Given the description of an element on the screen output the (x, y) to click on. 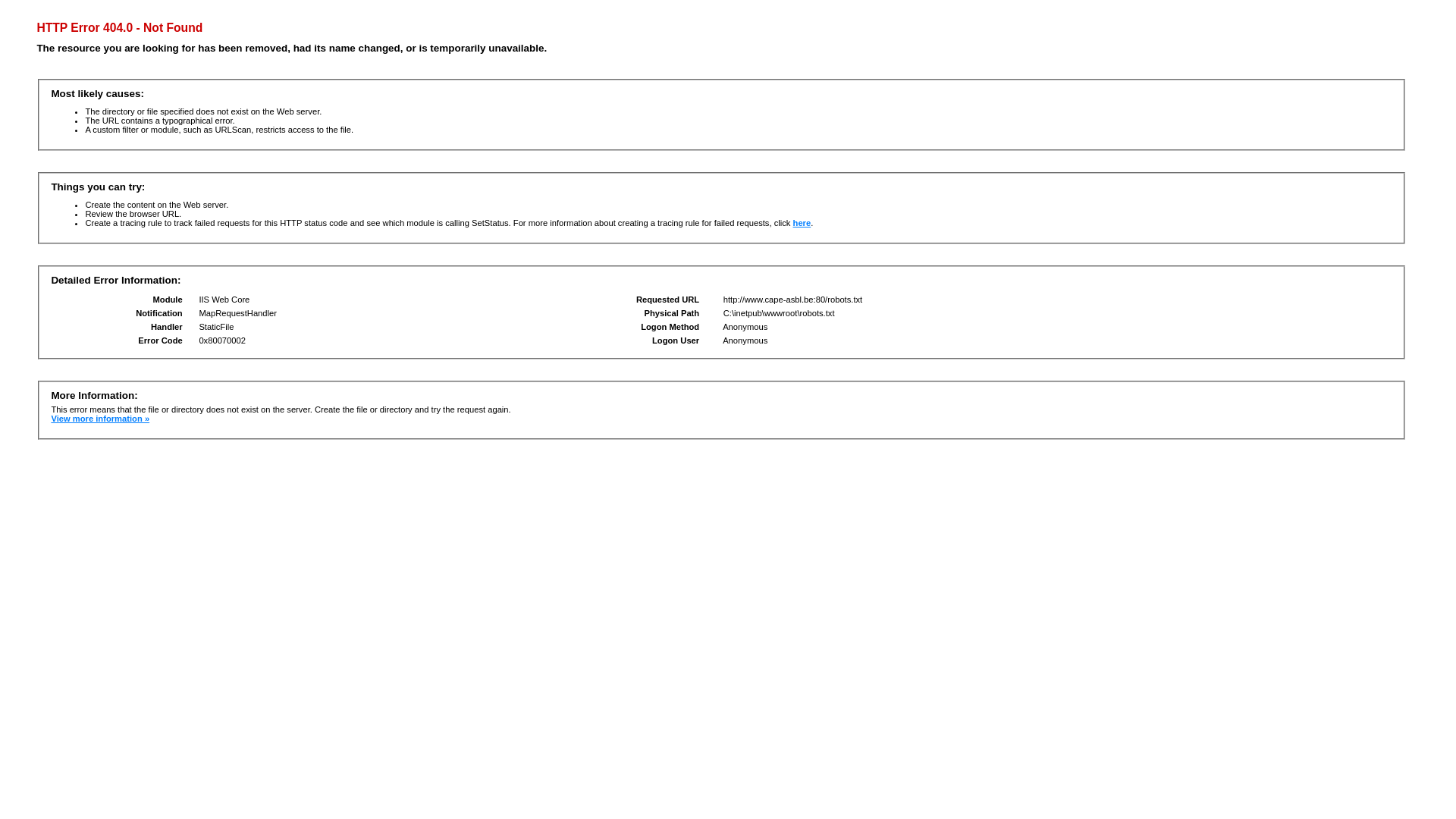
here Element type: text (802, 222)
